Given the description of an element on the screen output the (x, y) to click on. 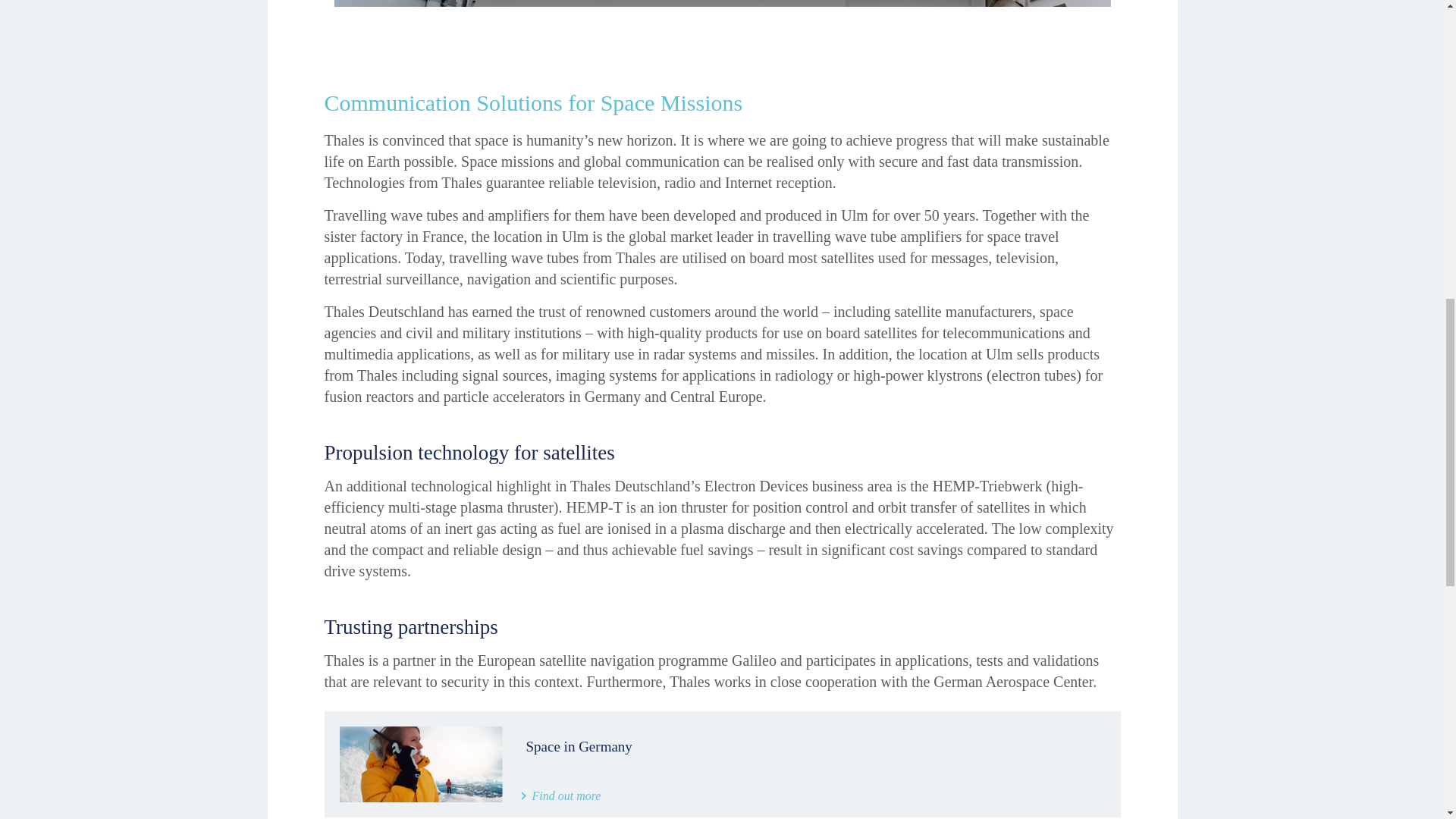
Find out more (561, 795)
